Given the description of an element on the screen output the (x, y) to click on. 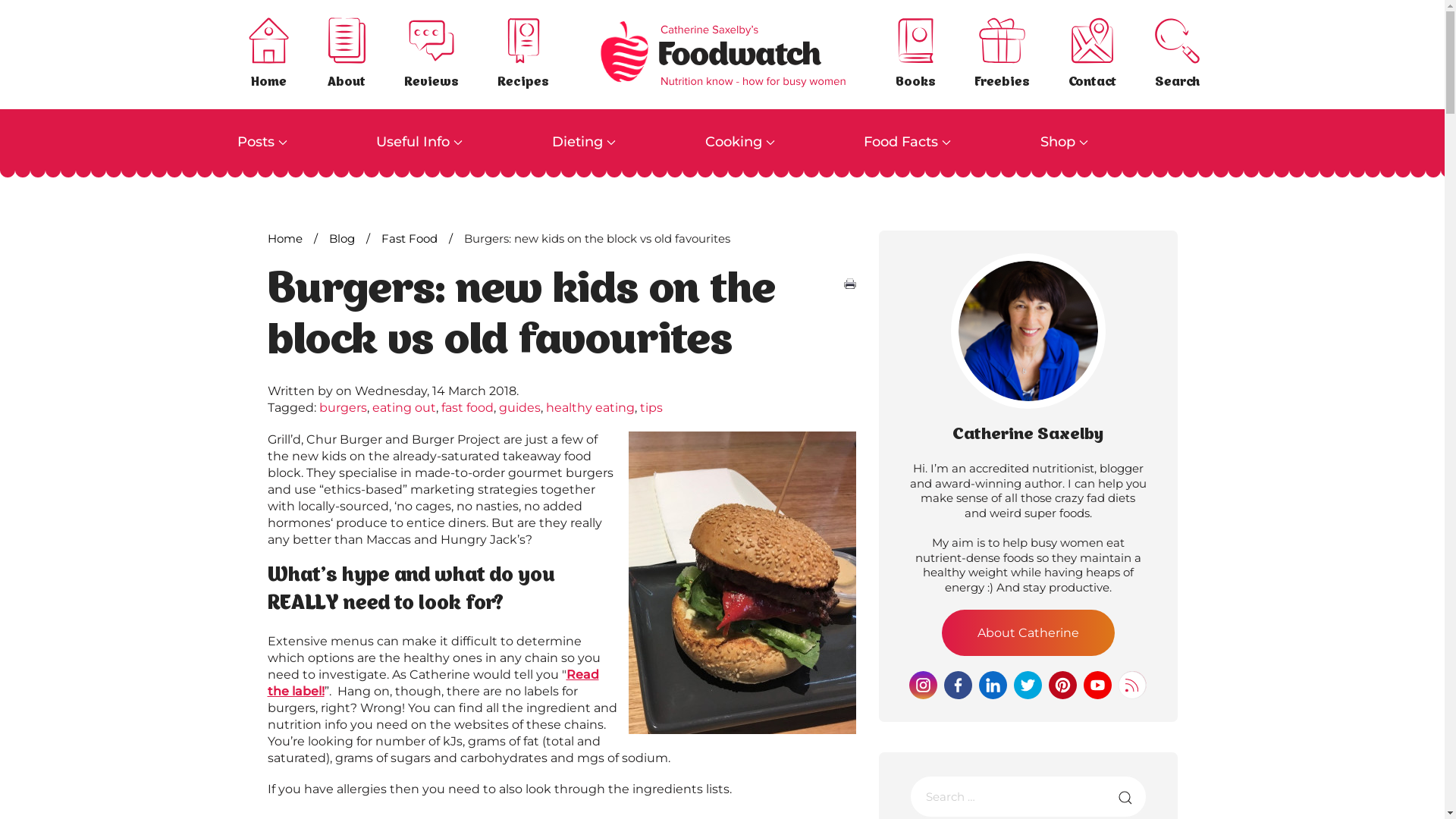
Shop Element type: text (1108, 142)
Pinterest Element type: hover (1062, 684)
Reviews Element type: text (431, 54)
Useful Info Element type: text (464, 142)
Home Element type: text (268, 54)
Posts Element type: text (306, 142)
Contact Element type: text (1092, 54)
Blog Element type: text (341, 238)
RSS Element type: hover (1132, 684)
LinkedIn Element type: hover (993, 684)
Cooking Element type: text (784, 142)
Youtube Element type: hover (1097, 684)
Dieting Element type: text (628, 142)
About Catherine Element type: text (1027, 632)
Fast Food Element type: text (408, 238)
fast food Element type: text (467, 407)
Home Element type: text (283, 238)
tips Element type: text (651, 407)
Search Element type: text (1176, 54)
healthy eating Element type: text (590, 407)
Freebies Element type: text (1001, 54)
Food Facts Element type: text (951, 142)
Instagram Element type: hover (923, 684)
Print Element type: hover (850, 283)
burgers Element type: text (342, 407)
Recipes Element type: text (522, 54)
Books Element type: text (915, 54)
guides Element type: text (519, 407)
Facebook Element type: hover (958, 684)
Read the label! Element type: text (432, 682)
Twitter Element type: hover (1027, 684)
About Element type: text (346, 54)
eating out Element type: text (403, 407)
